Given the description of an element on the screen output the (x, y) to click on. 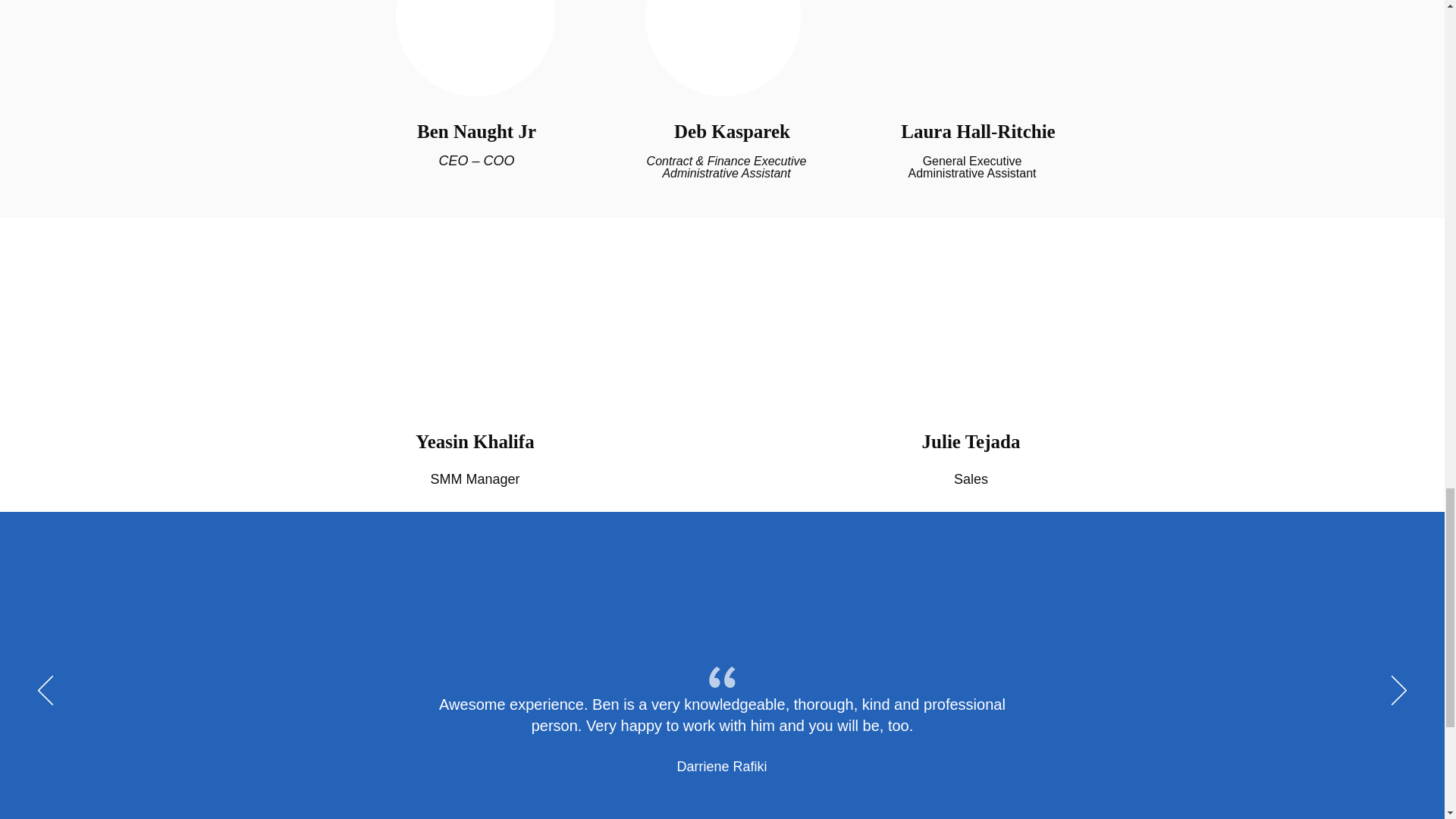
Darriene Rafiki (722, 766)
guy3.jpg (722, 48)
guy2.jpg (475, 48)
guy4.jpg (476, 320)
